Given the description of an element on the screen output the (x, y) to click on. 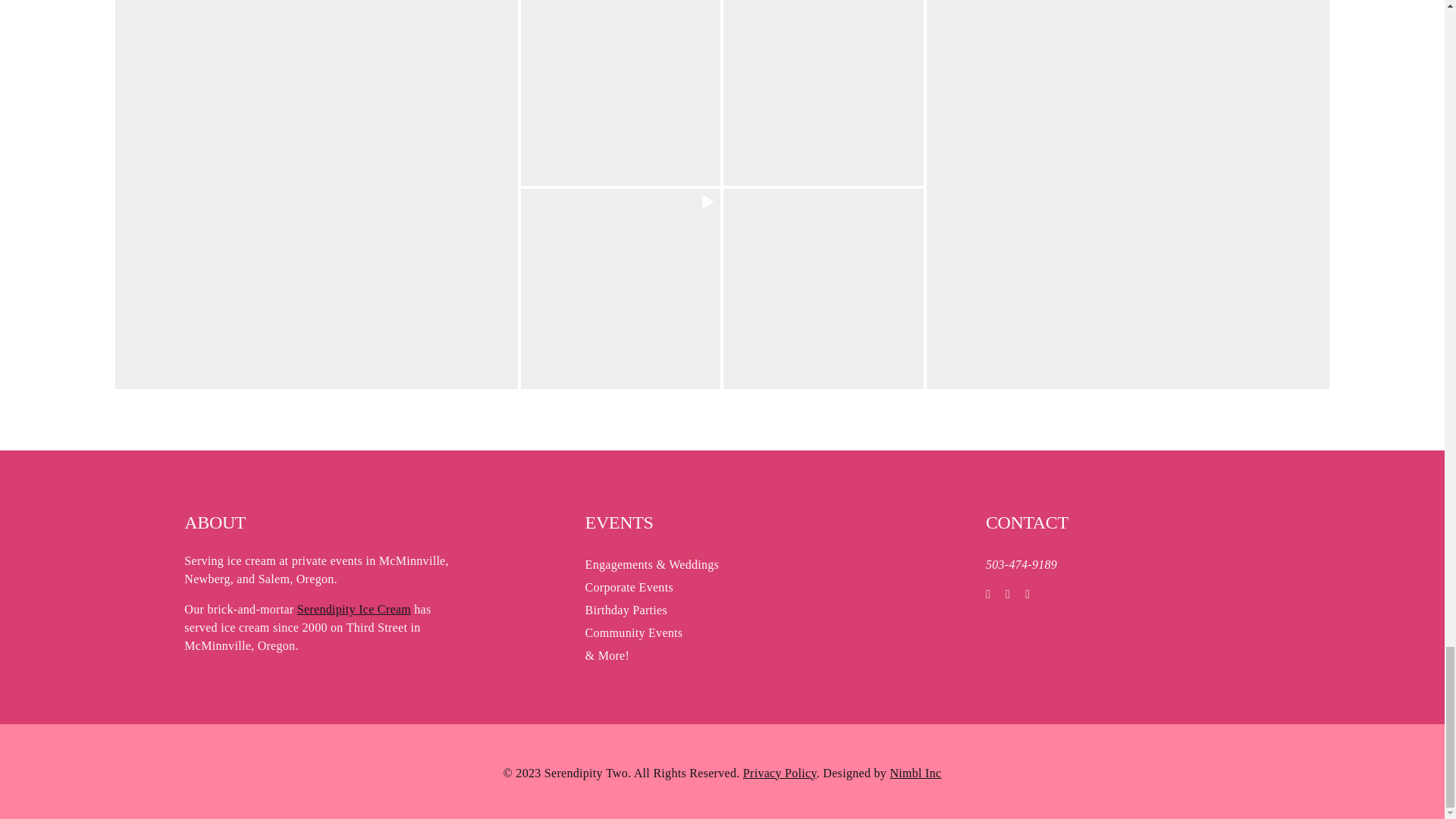
Nimbl Inc (914, 771)
Serendipity Ice Cream (353, 608)
Privacy Policy (779, 772)
